Given the description of an element on the screen output the (x, y) to click on. 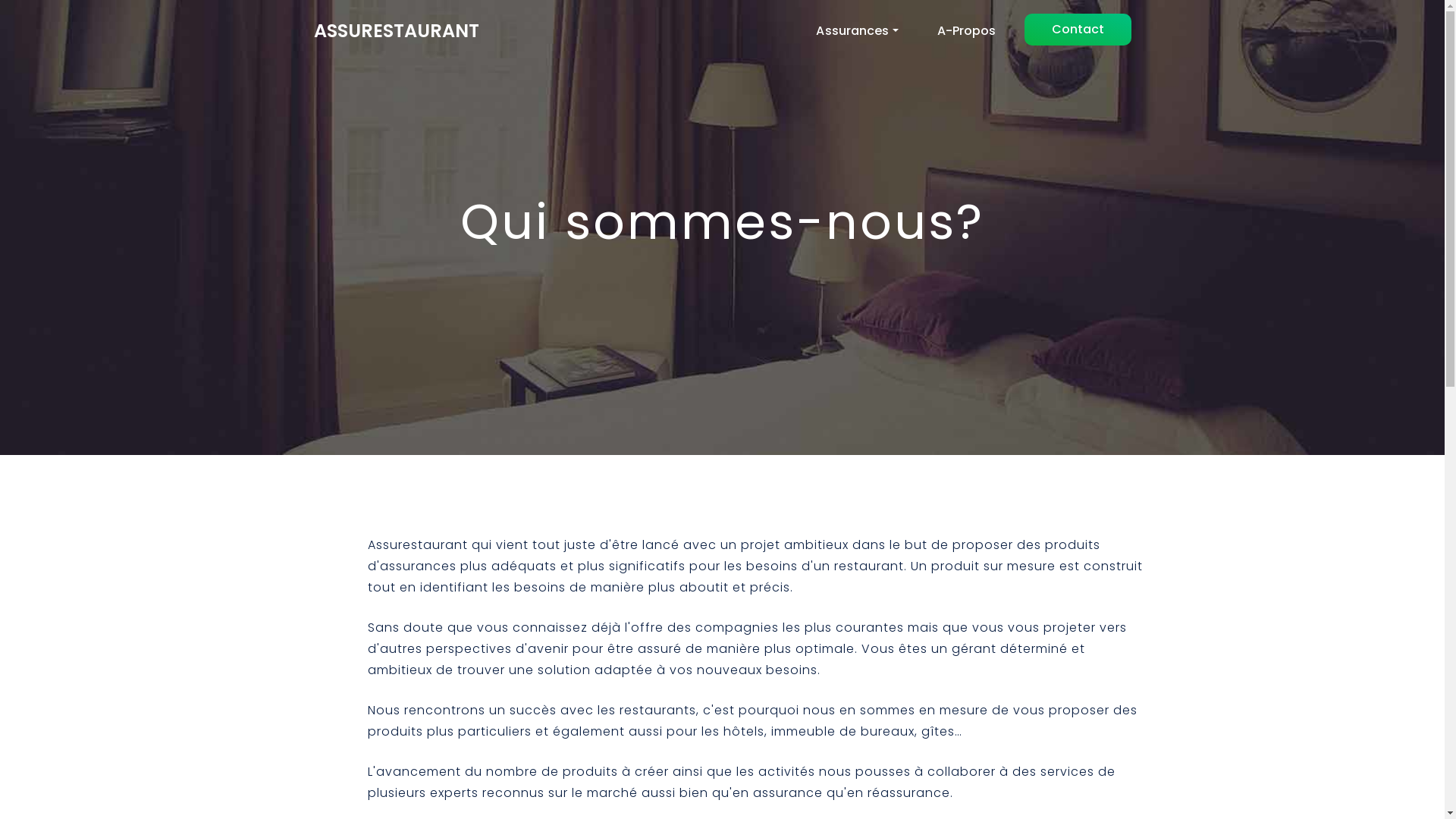
Contact Element type: text (1076, 29)
Assurances Element type: text (856, 30)
A-Propos Element type: text (966, 30)
ASSURESTAURANT Element type: text (396, 30)
